Given the description of an element on the screen output the (x, y) to click on. 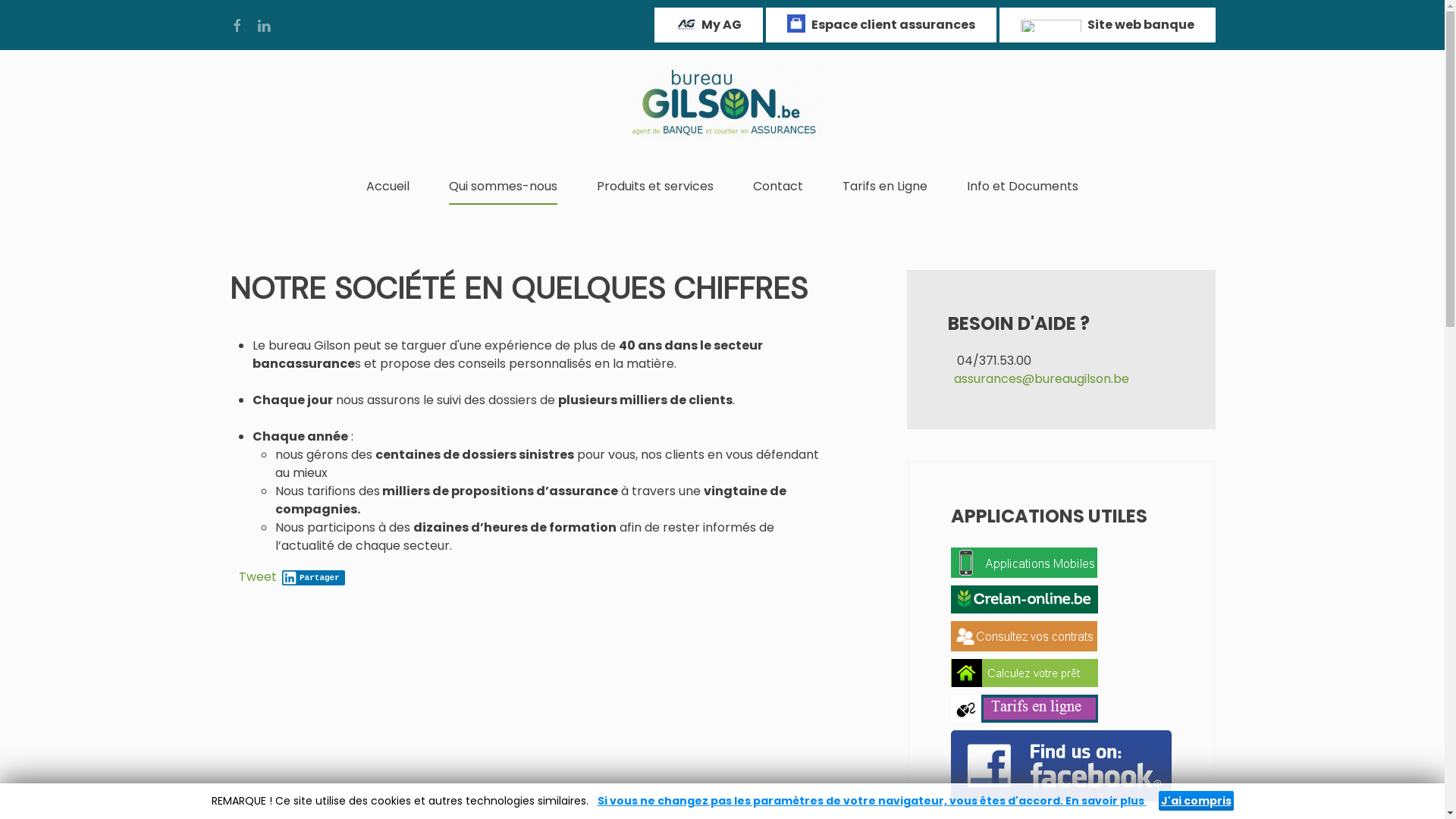
 My AG Element type: text (707, 24)
assurances@bureaugilson.be Element type: text (1041, 378)
Info et Documents Element type: text (1022, 186)
Tweet Element type: text (257, 576)
Qui sommes-nous Element type: text (503, 186)
Contact Element type: text (777, 186)
  Espace client assurances Element type: text (880, 24)
Accueil Element type: text (387, 186)
Tarifs en Ligne Element type: text (884, 186)
Partager Element type: text (313, 577)
Produits et services Element type: text (655, 186)
  Site web banque Element type: text (1107, 24)
